Given the description of an element on the screen output the (x, y) to click on. 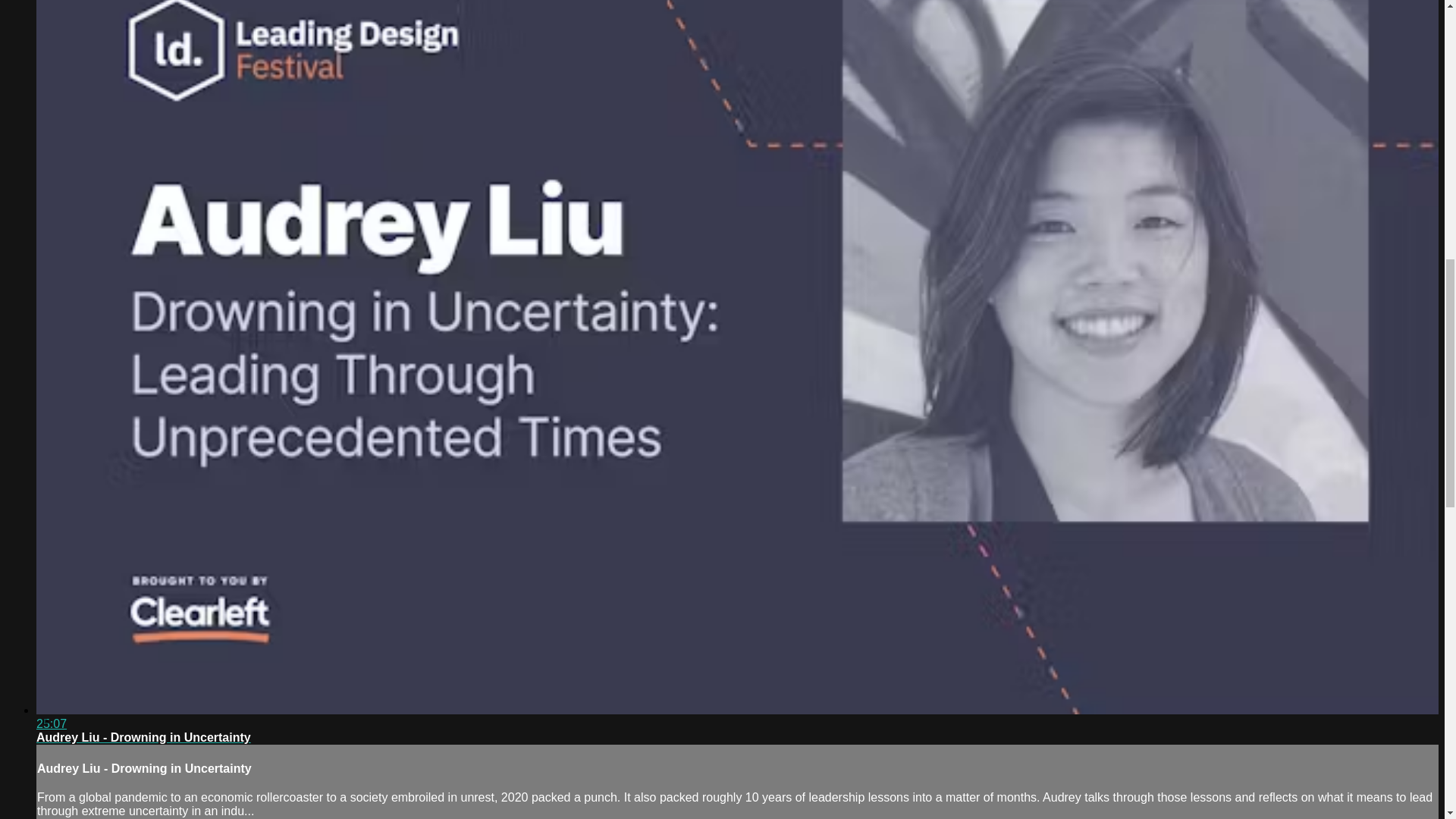
Audrey Liu - Drowning in Uncertainty (143, 737)
Audrey Liu - Drowning in Uncertainty (143, 737)
